Given the description of an element on the screen output the (x, y) to click on. 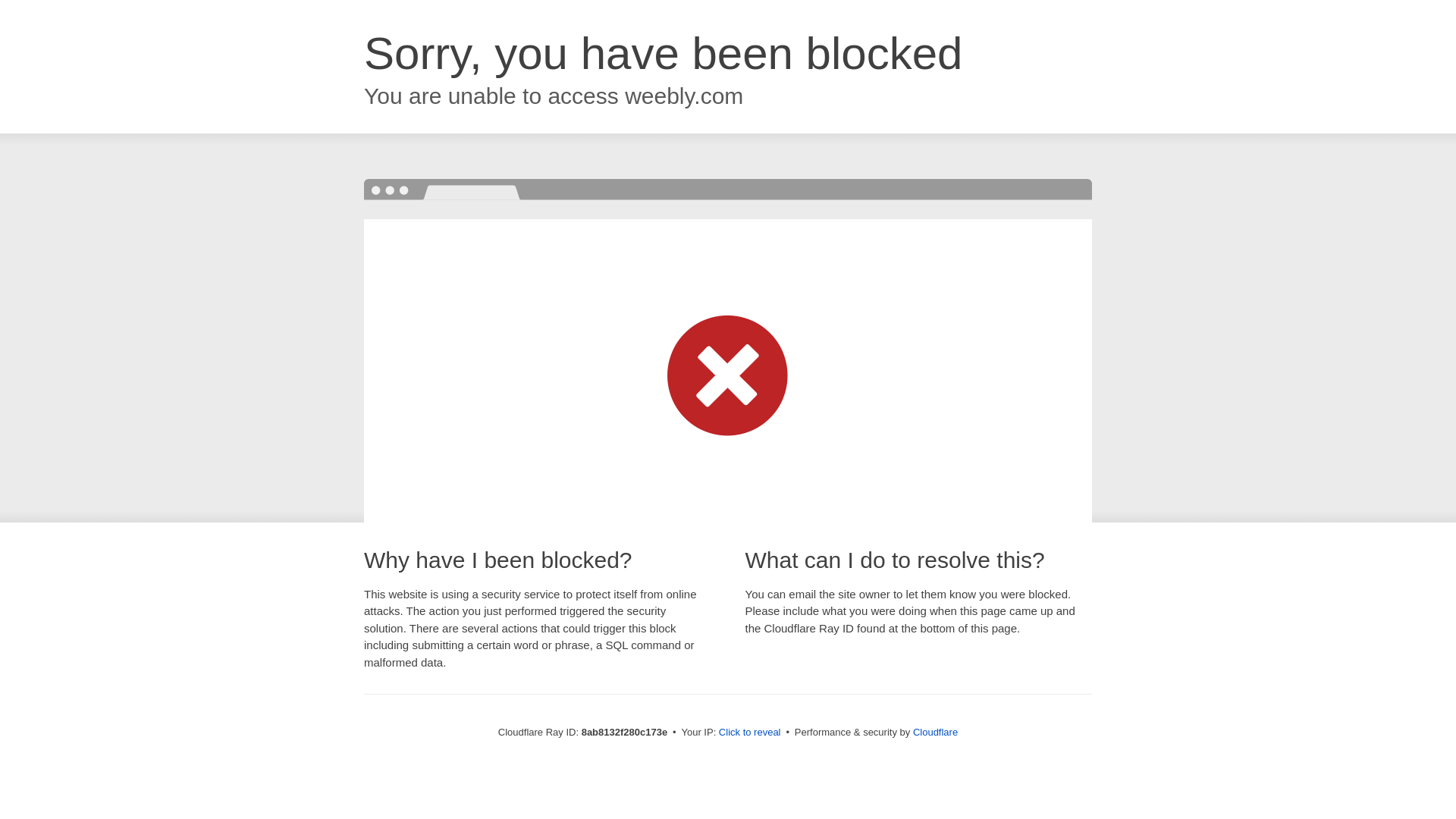
Cloudflare (935, 731)
Click to reveal (749, 732)
